Given the description of an element on the screen output the (x, y) to click on. 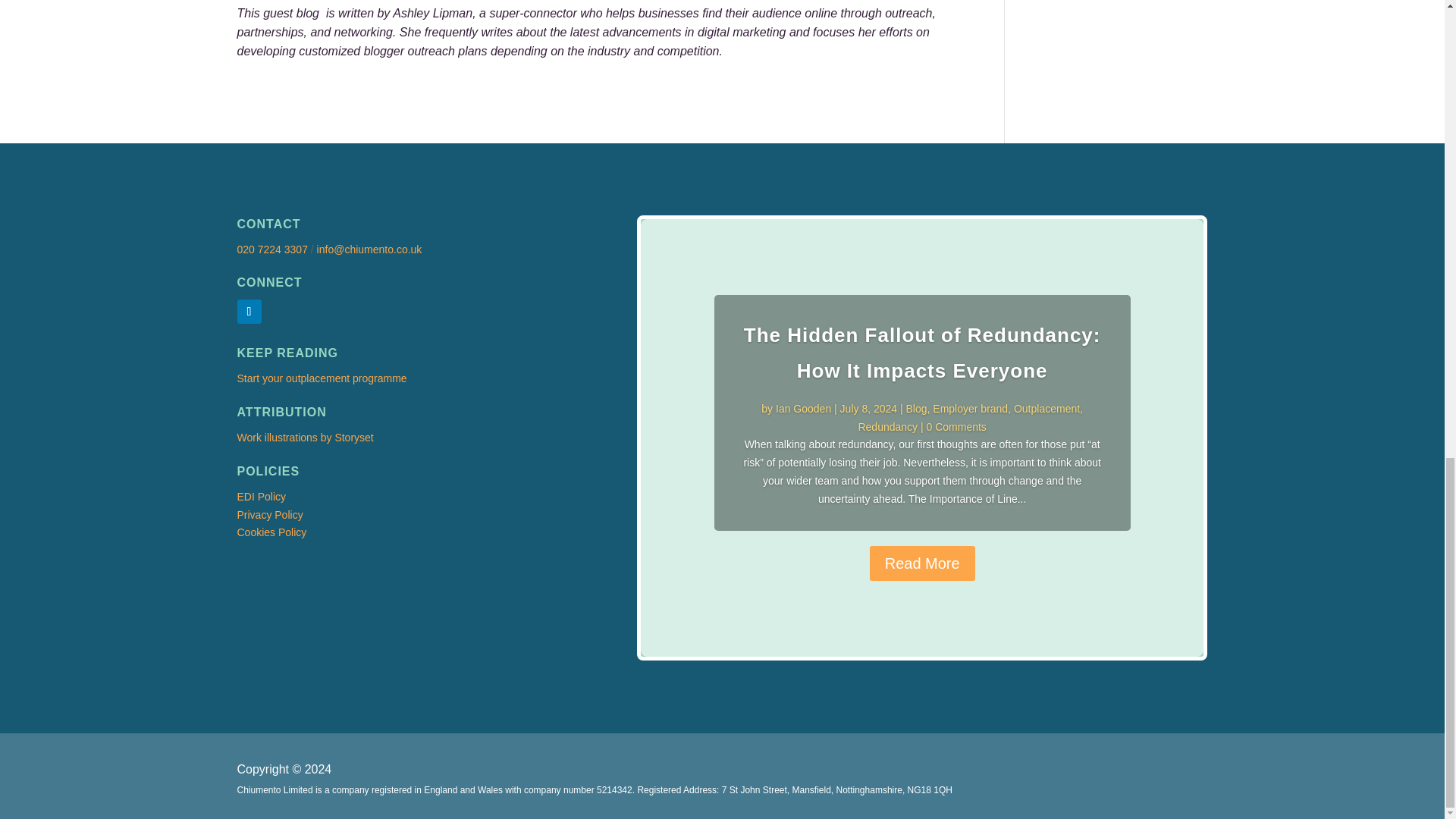
Work illustrations by Storyset (303, 437)
Posts by Ian Gooden (803, 408)
Ian Gooden (803, 408)
The Hidden Fallout of Redundancy: How It Impacts Everyone (922, 352)
Follow on LinkedIn (247, 311)
020 7224 3307 (271, 249)
